Given the description of an element on the screen output the (x, y) to click on. 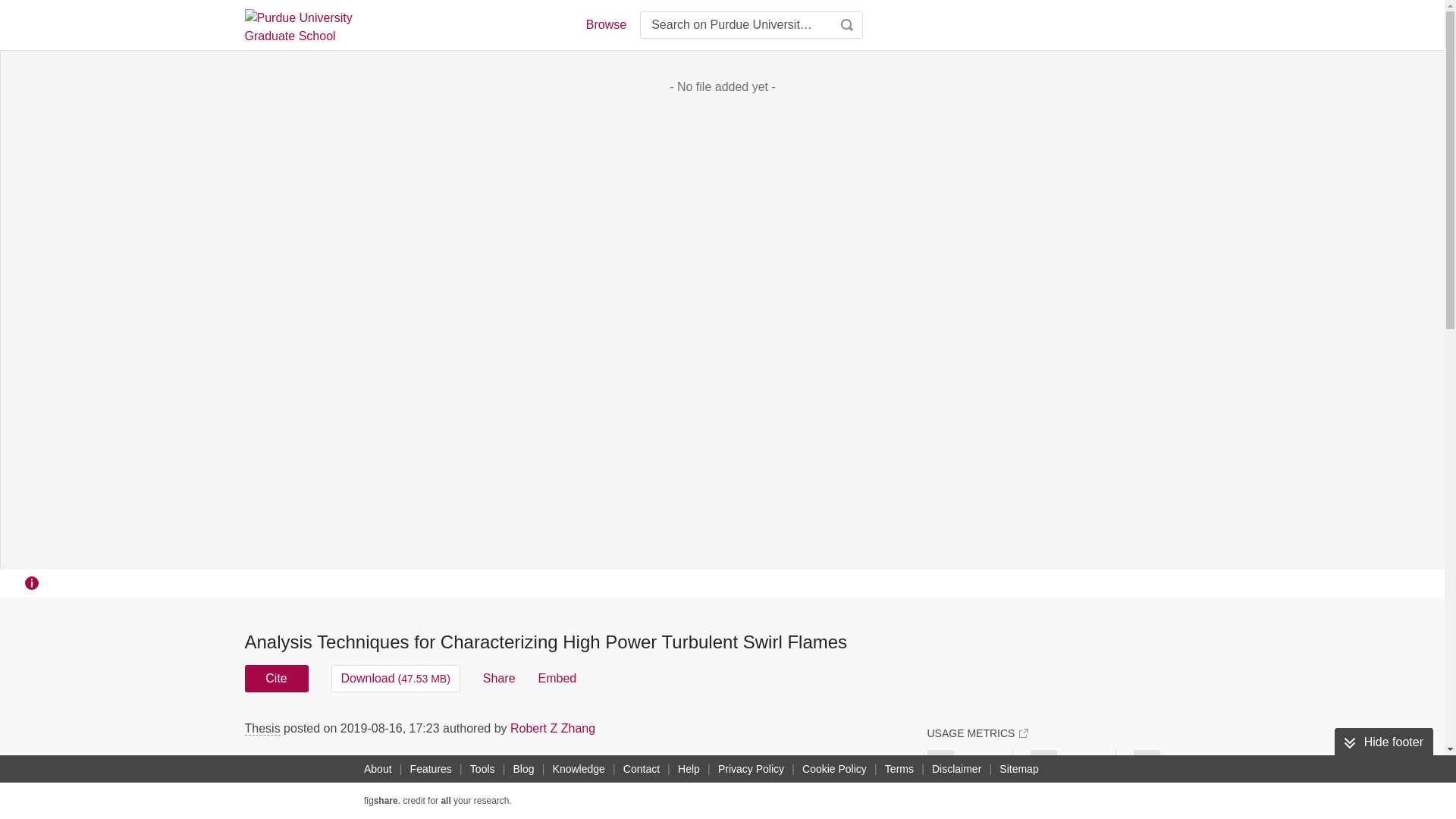
Privacy Policy (751, 769)
Embed (557, 678)
Robert Z Zhang (553, 727)
USAGE METRICS (976, 732)
Cite (275, 678)
Blog (523, 769)
Features (431, 769)
Browse (605, 24)
Knowledge (579, 769)
Hide footer (1383, 742)
